Given the description of an element on the screen output the (x, y) to click on. 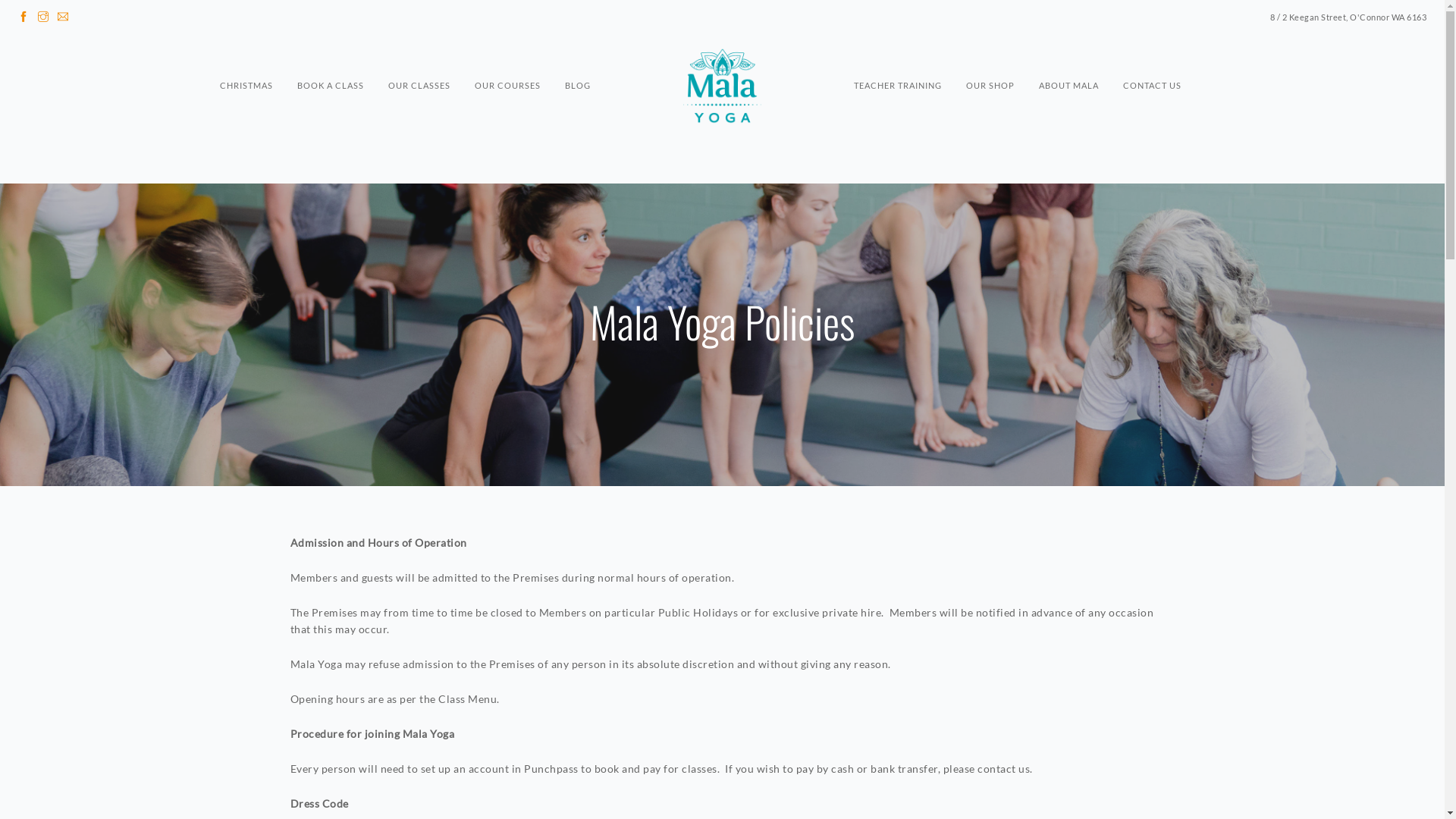
ABOUT MALA Element type: text (1068, 57)
OUR COURSES Element type: text (507, 57)
CONTACT US Element type: text (1152, 57)
TEACHER TRAINING Element type: text (897, 57)
OUR SHOP Element type: text (990, 57)
BLOG Element type: text (577, 57)
BOOK A CLASS Element type: text (330, 57)
CHRISTMAS Element type: text (246, 57)
OUR CLASSES Element type: text (419, 57)
